Given the description of an element on the screen output the (x, y) to click on. 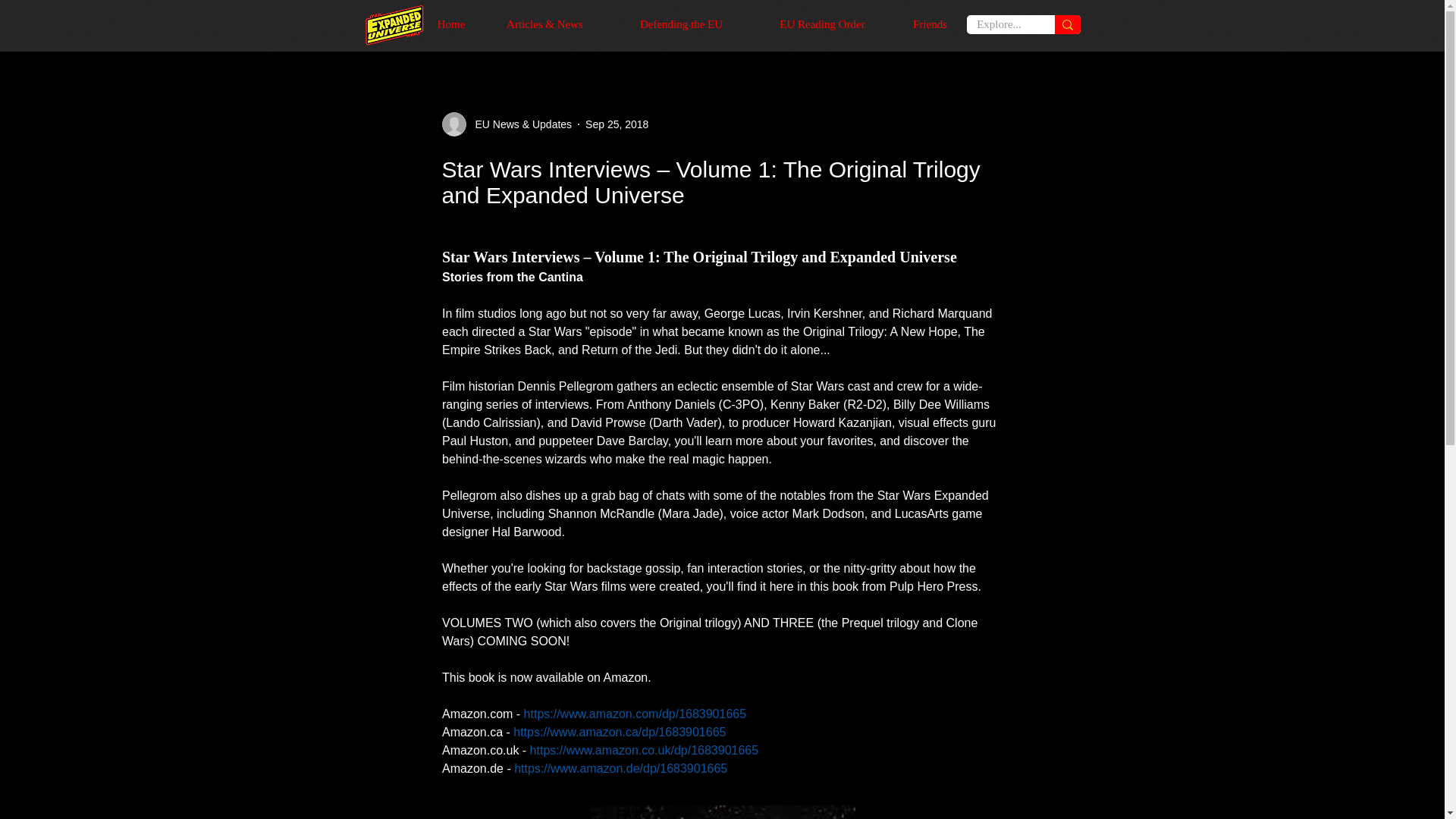
Home (452, 24)
EU Reading Order (822, 24)
Sep 25, 2018 (616, 123)
